Given the description of an element on the screen output the (x, y) to click on. 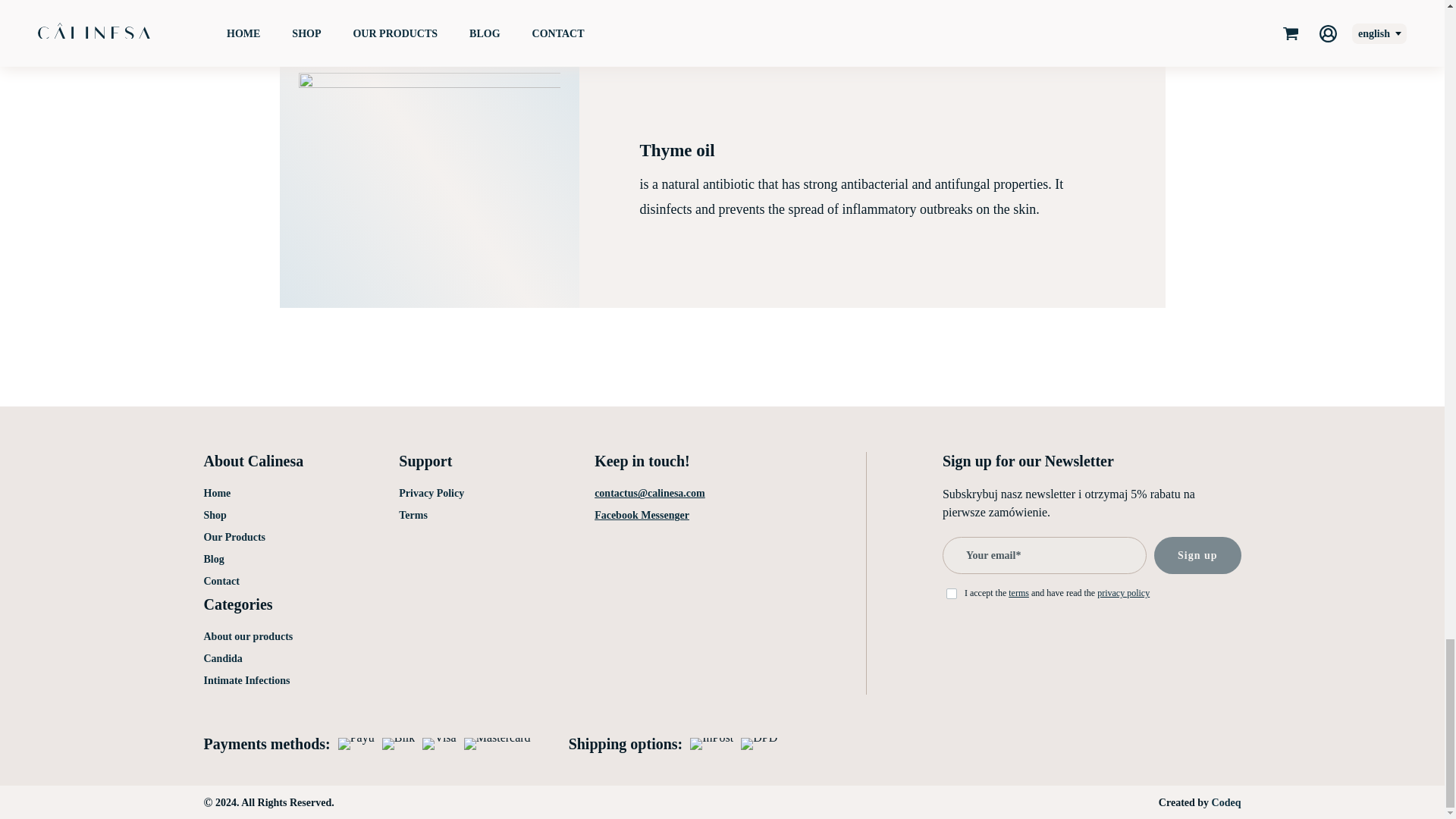
terms (1019, 593)
privacy policy (1123, 593)
Intimate Infections (246, 680)
Blog (213, 559)
Facebook Messenger (641, 514)
Privacy Policy (431, 492)
Terms (413, 514)
Codeq (1226, 802)
Shop (214, 514)
Home (216, 492)
